Given the description of an element on the screen output the (x, y) to click on. 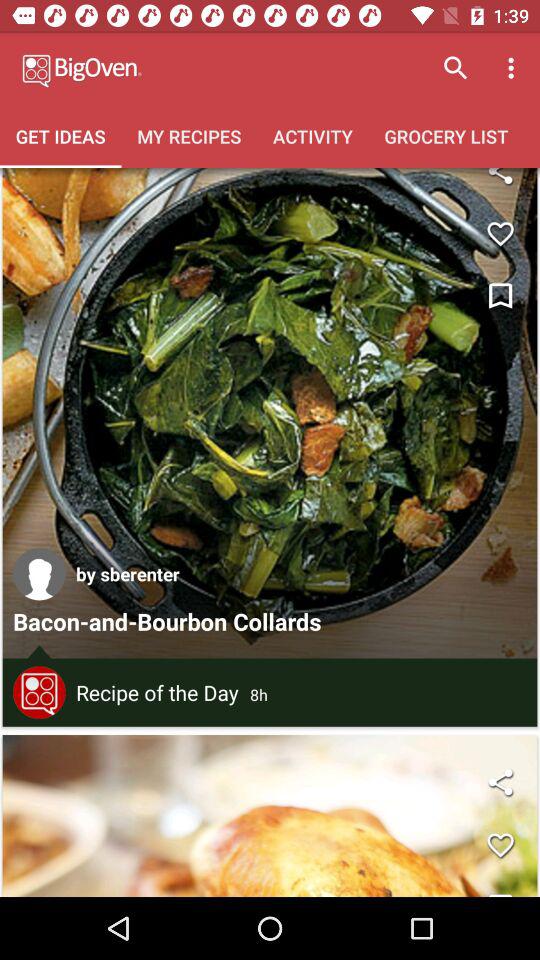
press item next to the recipe of the item (39, 692)
